Given the description of an element on the screen output the (x, y) to click on. 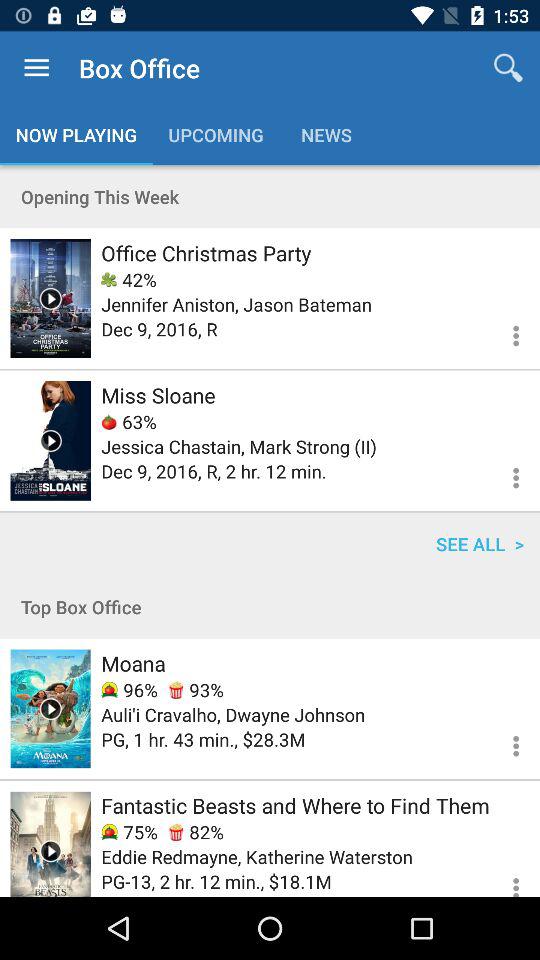
select a movie (50, 708)
